Given the description of an element on the screen output the (x, y) to click on. 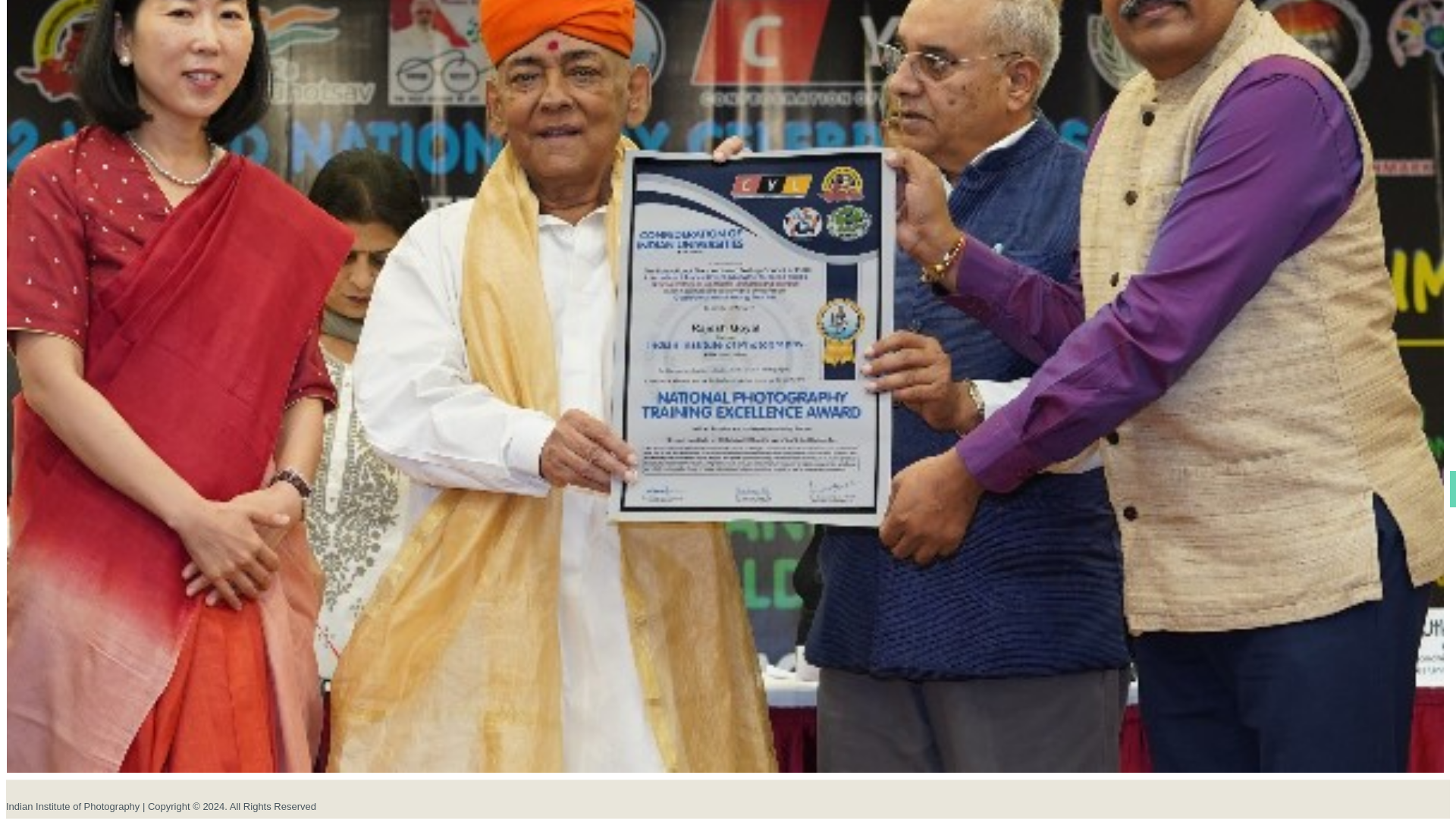
National Excellence Award In Photography Learning (725, 778)
